Given the description of an element on the screen output the (x, y) to click on. 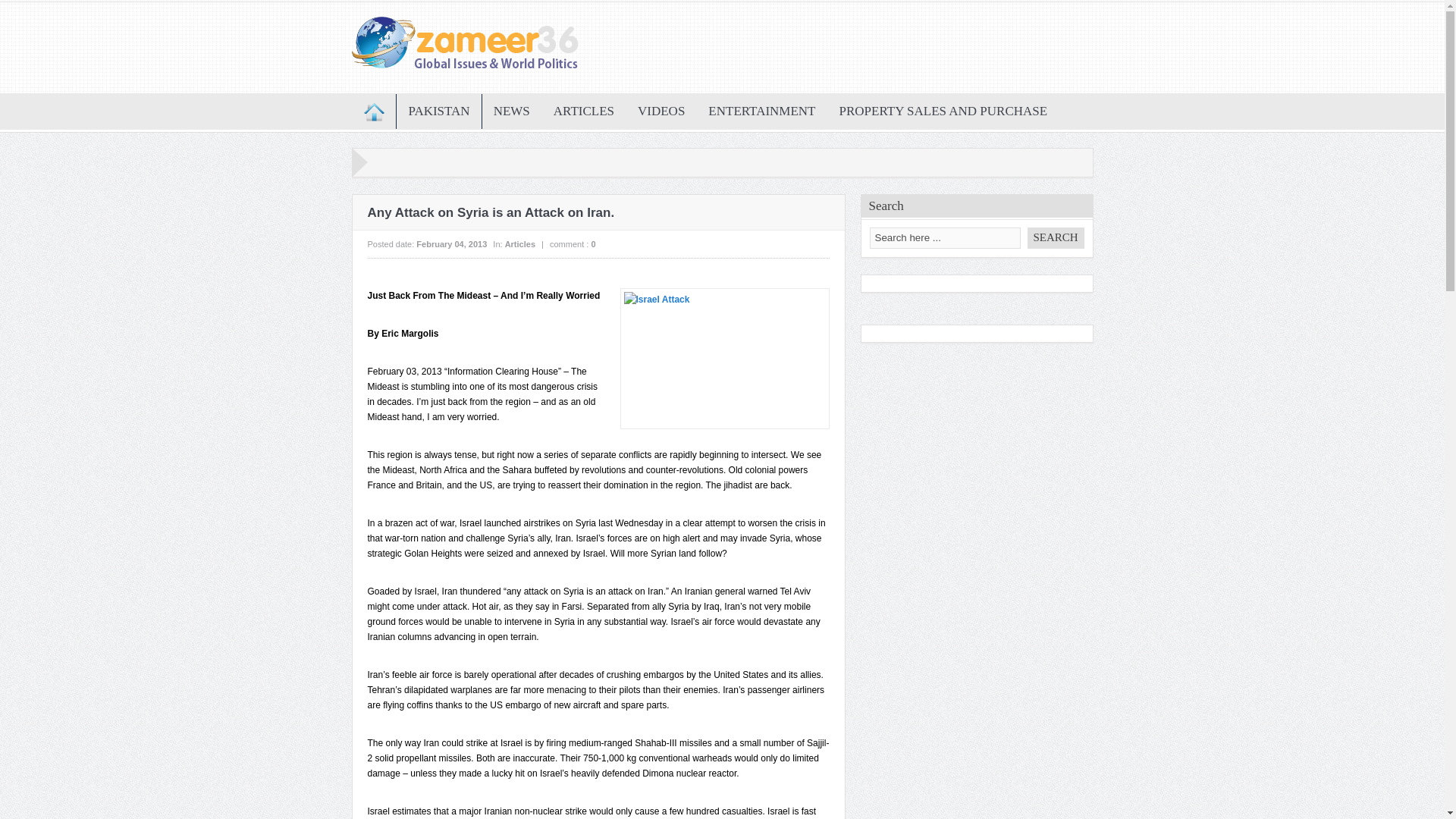
Search (1054, 237)
Search here ... (944, 237)
VIDEOS (660, 111)
ARTICLES (583, 111)
PAKISTAN (439, 111)
ENTERTAINMENT (762, 111)
PROPERTY SALES AND PURCHASE (943, 111)
HOME (373, 111)
Articles (520, 243)
NEWS (511, 111)
